Given the description of an element on the screen output the (x, y) to click on. 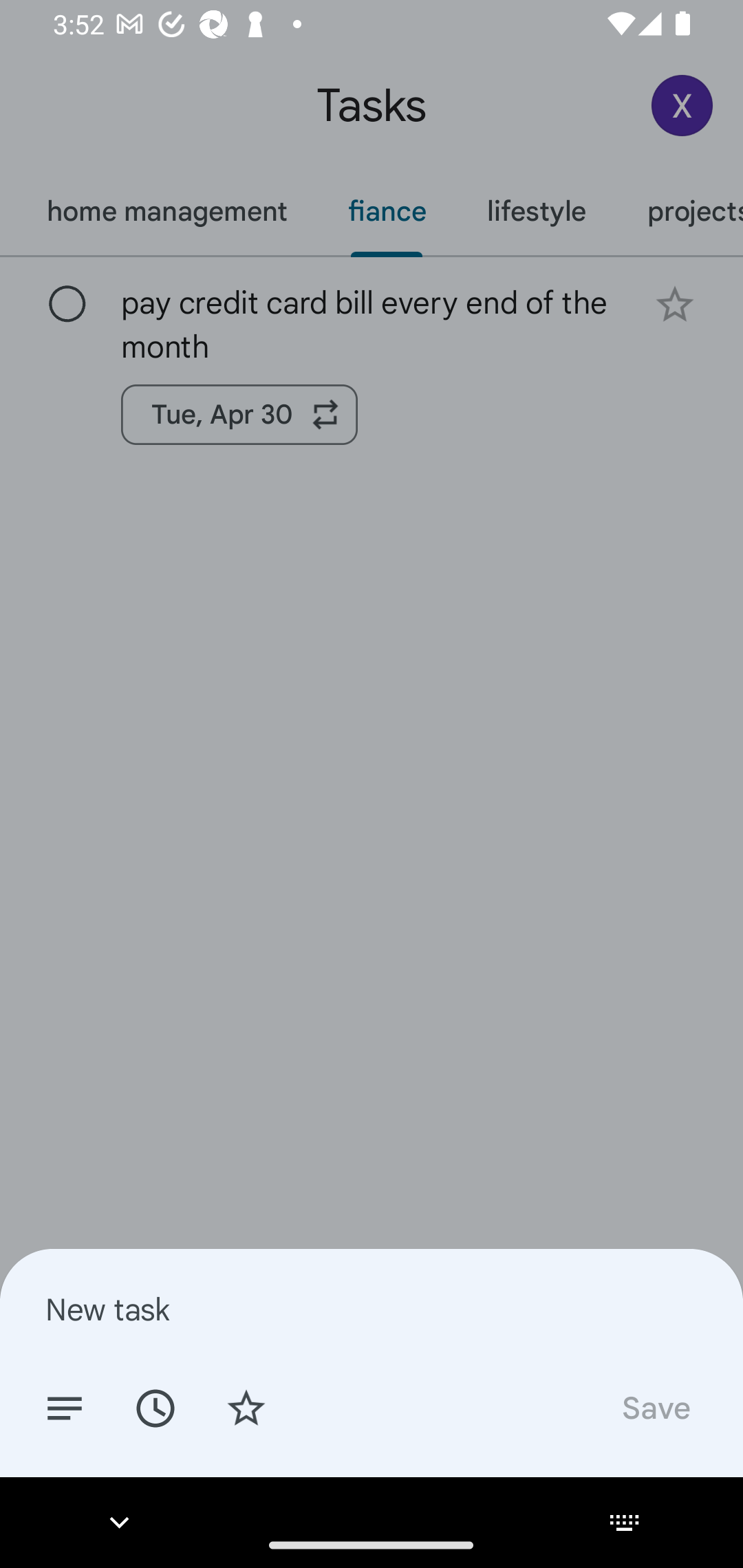
New task (371, 1308)
Save (655, 1407)
Add details (64, 1407)
Set date/time (154, 1407)
Add star (245, 1407)
